Given the description of an element on the screen output the (x, y) to click on. 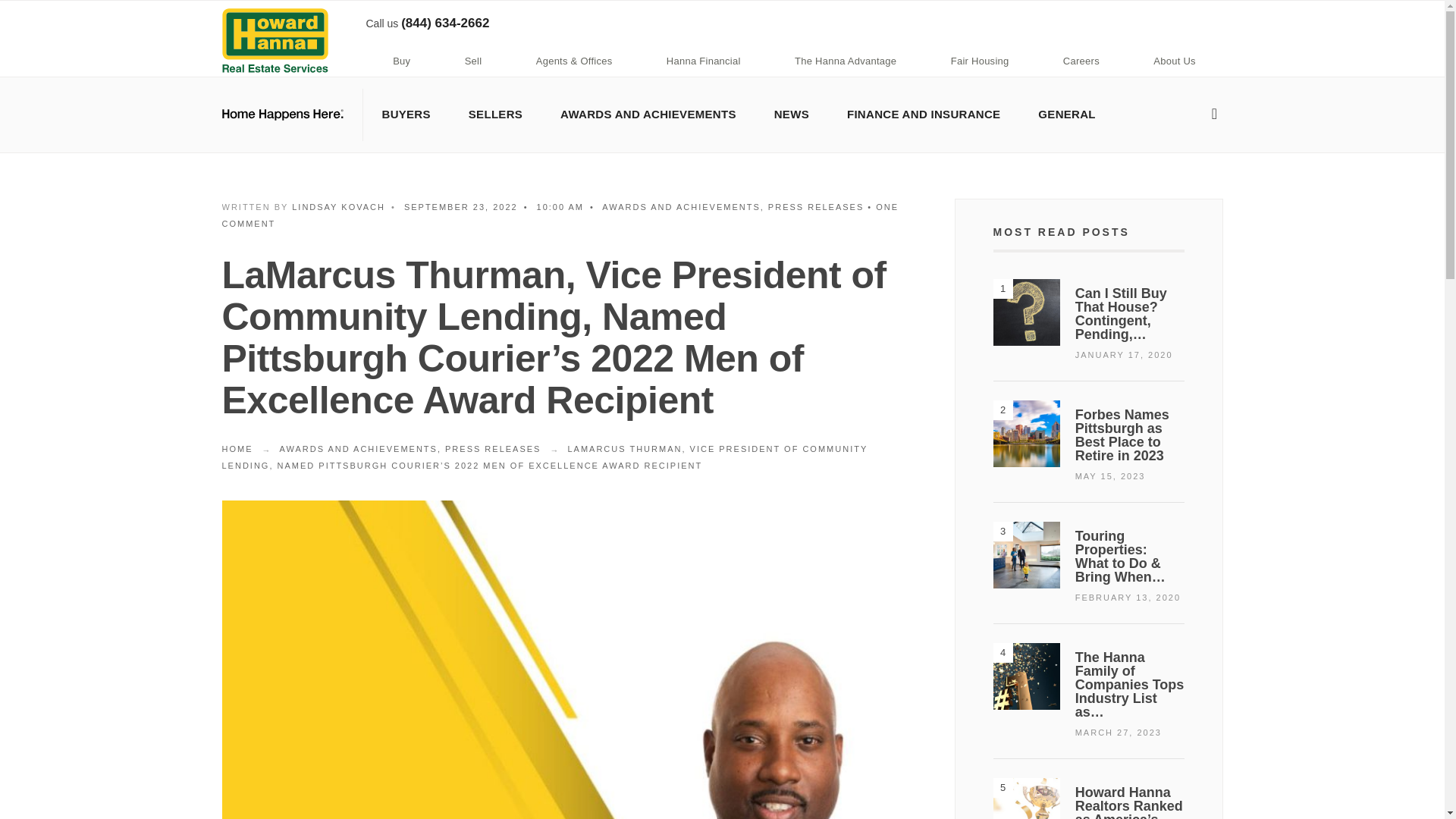
Buy (400, 61)
Posts by Lindsay Kovach (338, 206)
Hanna Financial (703, 61)
Sell (473, 61)
